Given the description of an element on the screen output the (x, y) to click on. 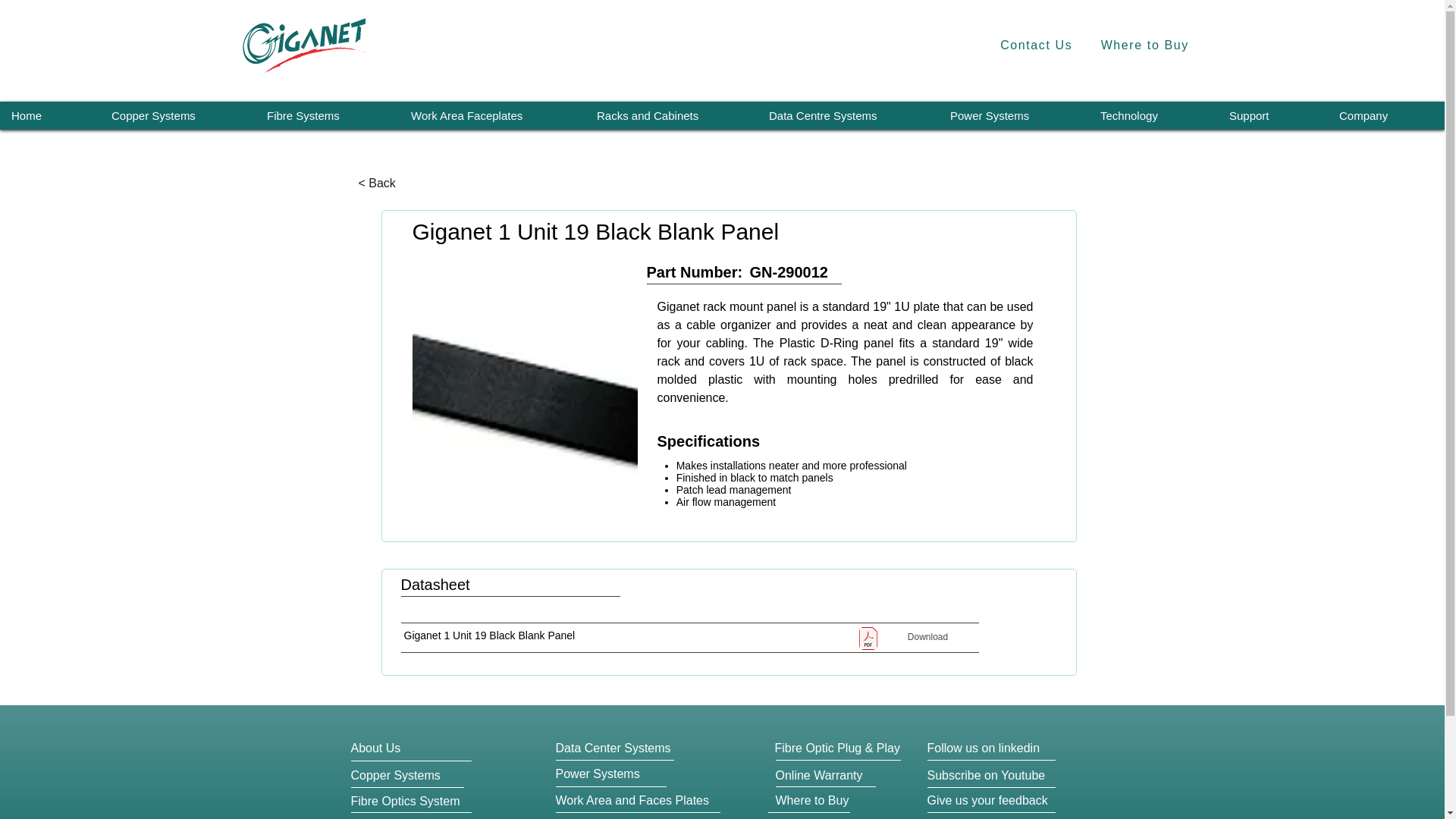
Where to Buy (1144, 45)
Contact Us (1035, 45)
290012.jpg (524, 401)
Home (49, 115)
Copper Systems (176, 115)
Fibre Systems (326, 115)
Data Centre Systems (847, 115)
Work Area Faceplates (491, 115)
Racks and Cabinets (671, 115)
